Given the description of an element on the screen output the (x, y) to click on. 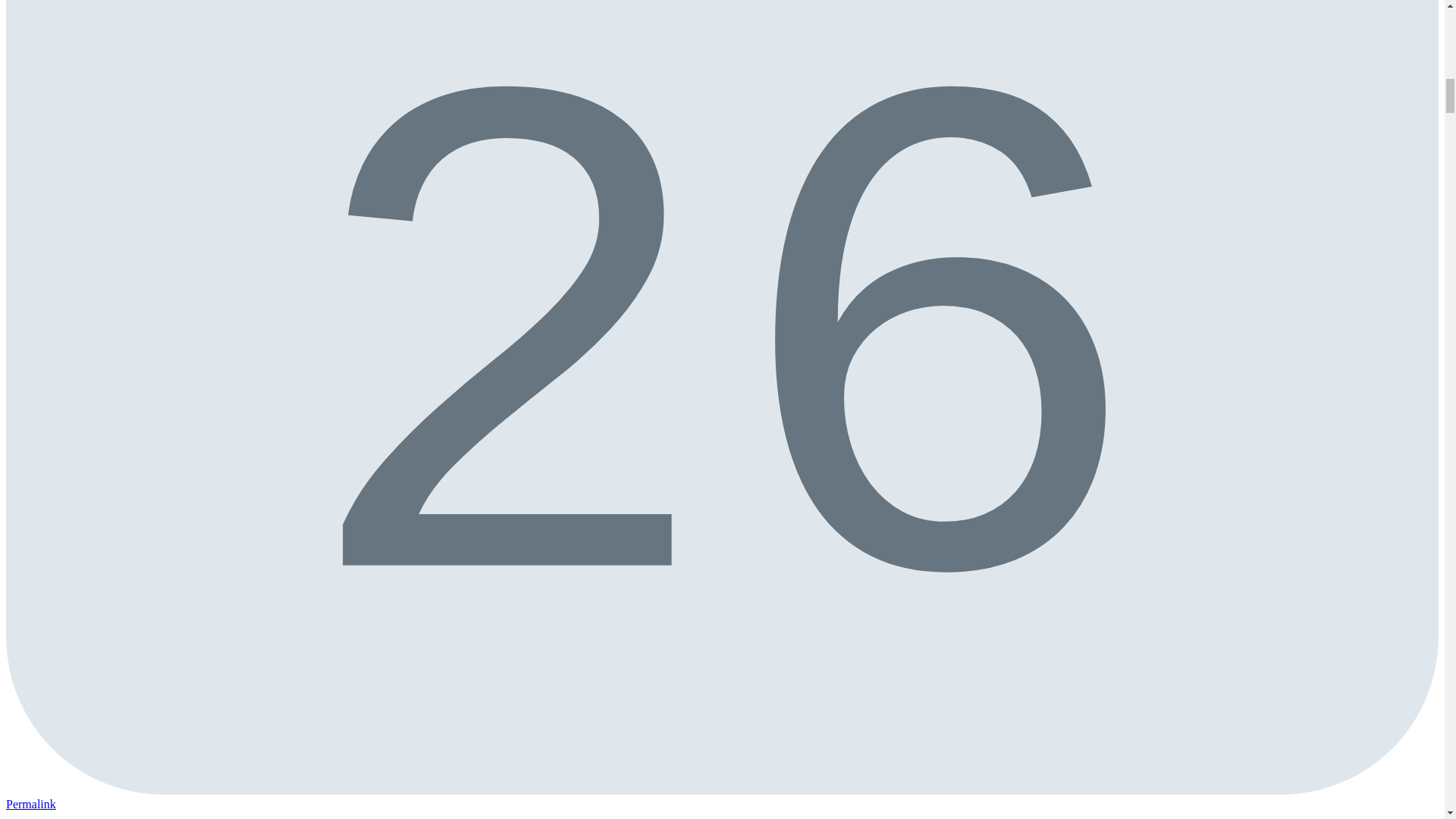
Permalink (30, 803)
